Given the description of an element on the screen output the (x, y) to click on. 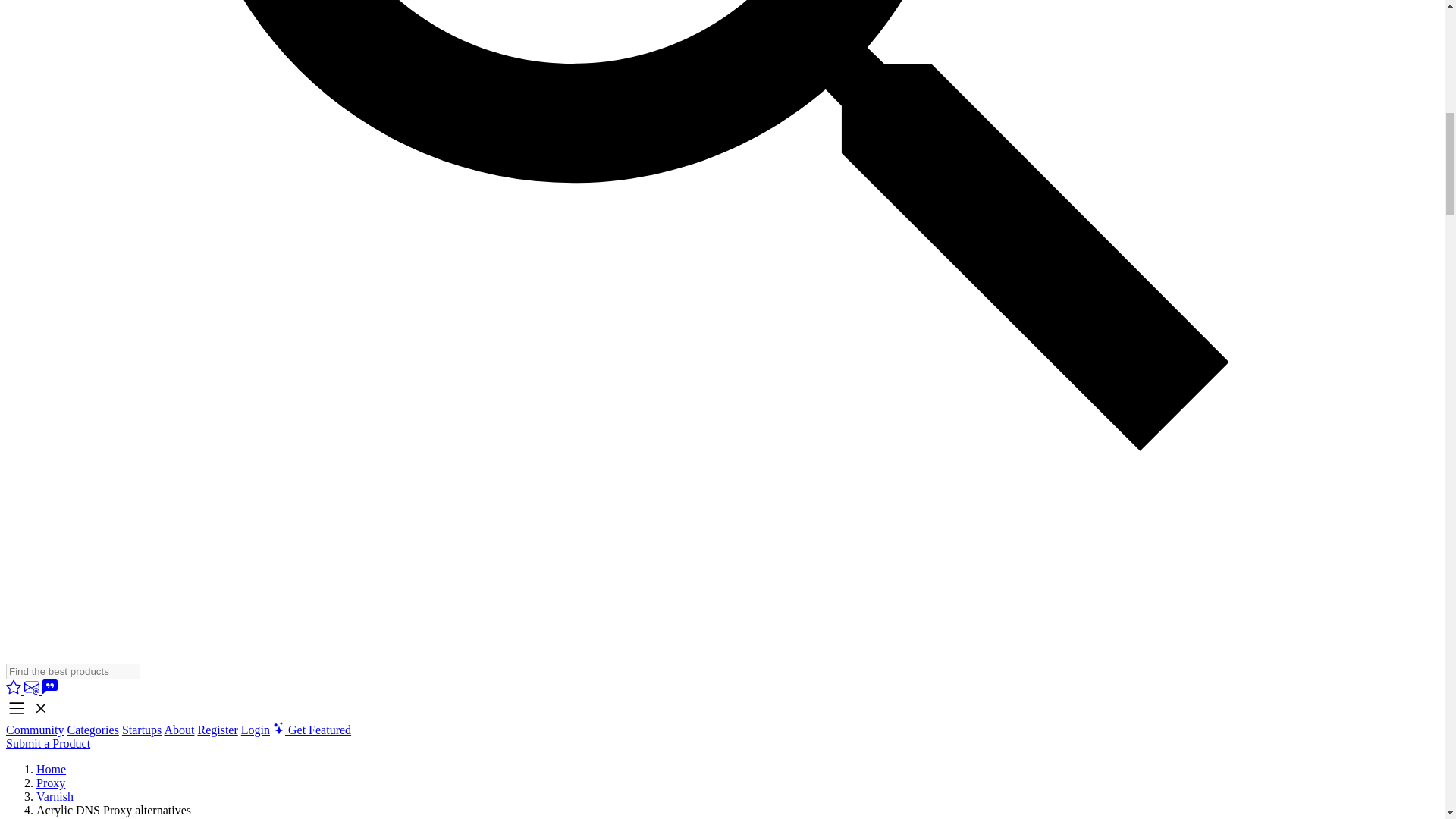
Categories (91, 729)
My Saved Products (14, 689)
Varnish (55, 796)
Proxy (50, 782)
SaaSHub Weekly - our newsletter (33, 689)
Submit a Product (47, 743)
Community (34, 729)
Startups (141, 729)
Home (50, 768)
Login (255, 729)
About (178, 729)
Register (216, 729)
Get Featured (311, 729)
